Given the description of an element on the screen output the (x, y) to click on. 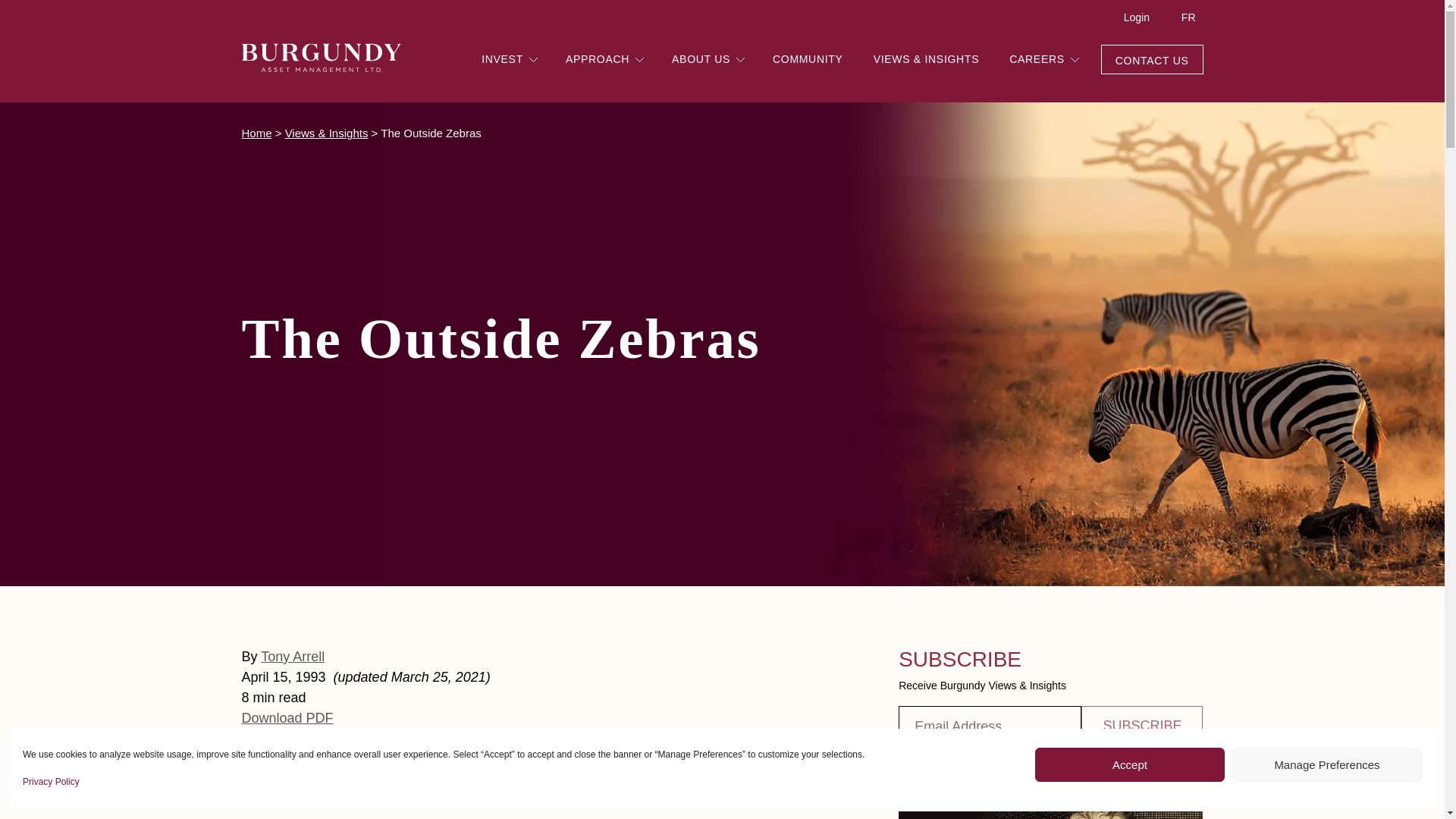
Login (1136, 18)
Accept (1129, 764)
Subscribe (1141, 725)
Go to Burgundy Asset Management Ltd.. (255, 132)
Manage Preferences (1326, 764)
Privacy Policy (51, 781)
